Given the description of an element on the screen output the (x, y) to click on. 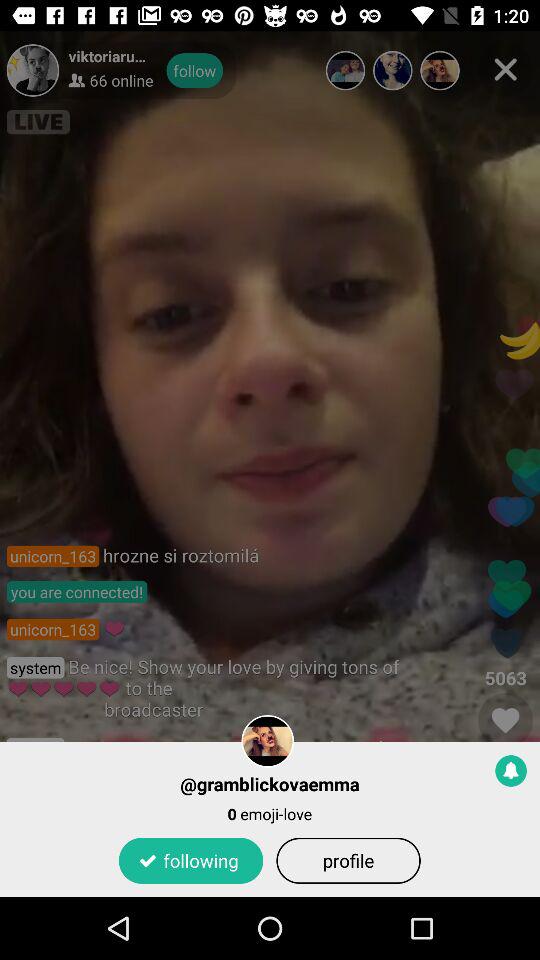
alert or message button (511, 770)
